Given the description of an element on the screen output the (x, y) to click on. 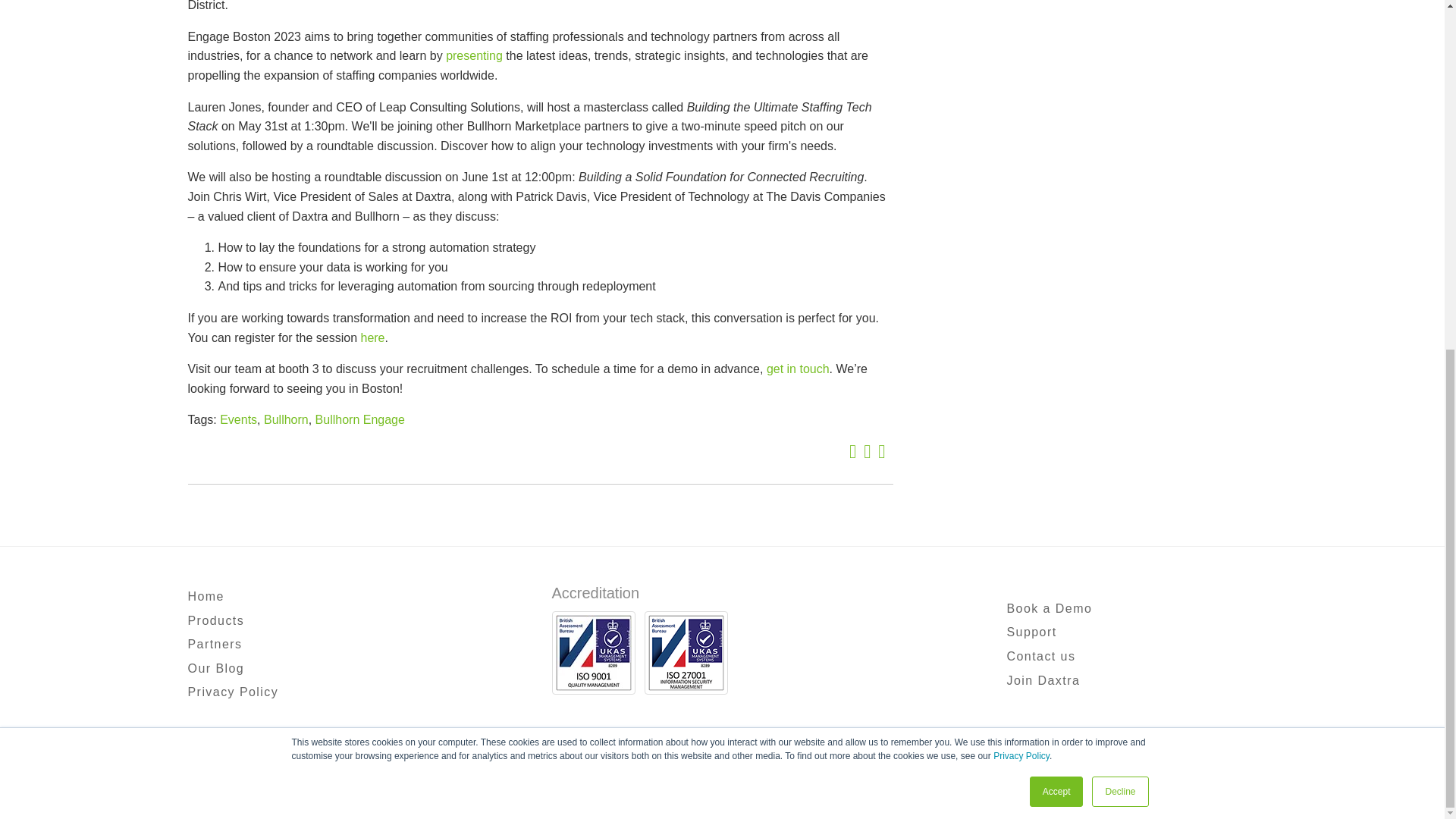
Decline (1120, 186)
Privacy Policy (1020, 151)
Accept (1056, 186)
